Given the description of an element on the screen output the (x, y) to click on. 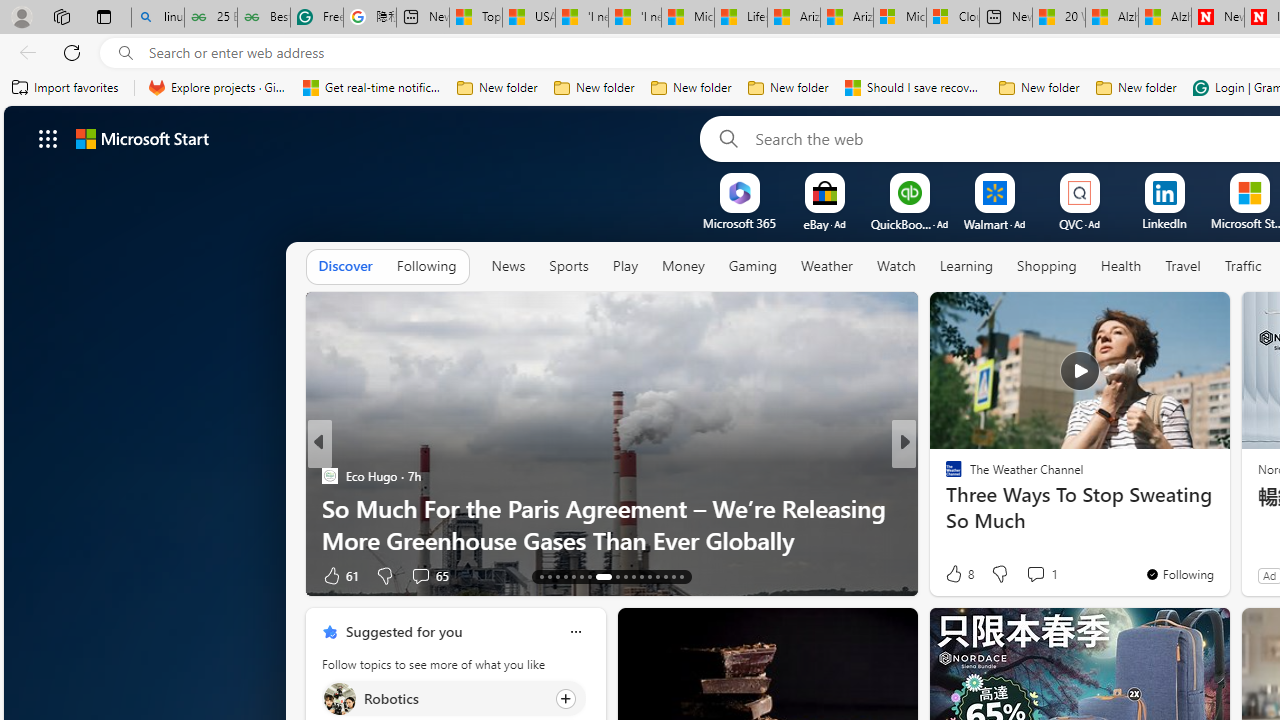
View comments 36 Comment (1051, 574)
View comments 65 Comment (420, 575)
Lifestyle - MSN (740, 17)
